Given the description of an element on the screen output the (x, y) to click on. 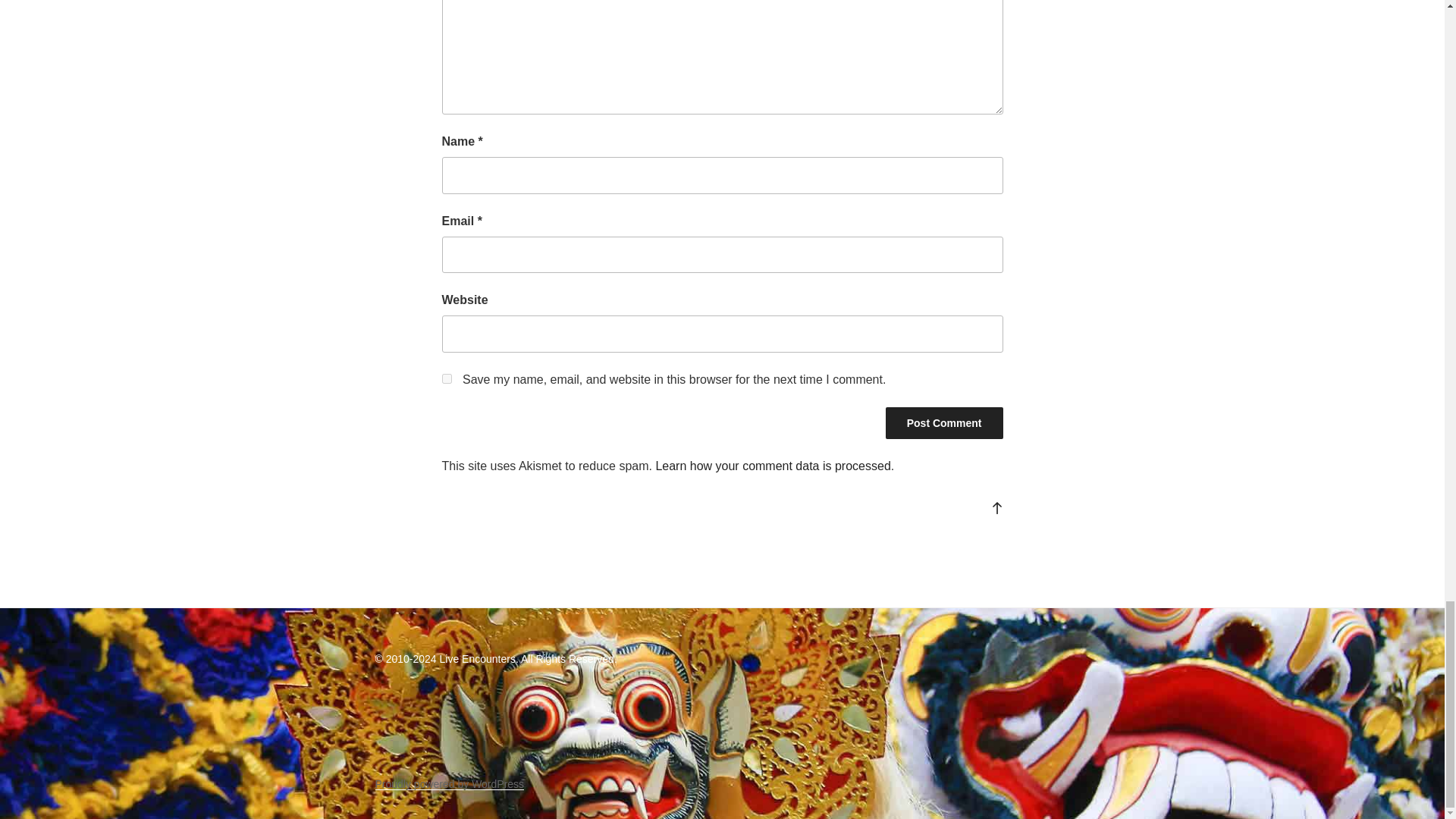
Back to top (996, 508)
Post Comment (944, 422)
yes (446, 378)
Proudly powered by WordPress (449, 784)
Learn how your comment data is processed (772, 465)
Post Comment (944, 422)
